Given the description of an element on the screen output the (x, y) to click on. 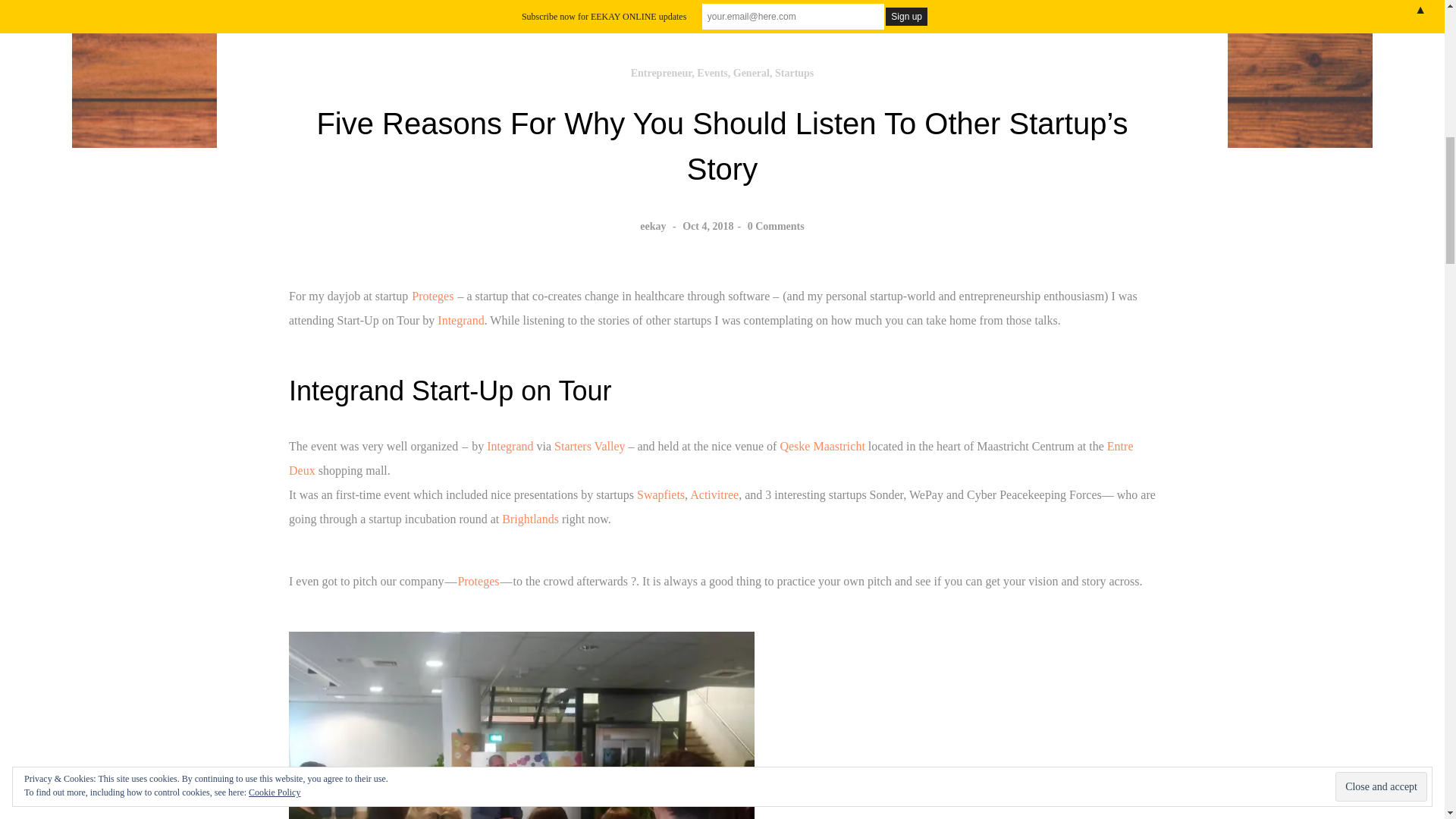
Startups (793, 72)
General (751, 72)
Swapfiets (660, 494)
Activitree (714, 494)
Oct 4, 2018 (707, 225)
Integrand (460, 319)
Posts by eekay (652, 225)
Proteges (478, 581)
Qeske Maastricht (821, 445)
Entrepreneur (661, 72)
0 Comments (776, 225)
Proteges (432, 295)
Entre Deux (710, 457)
Brightlands (530, 518)
Integrand (509, 445)
